Given the description of an element on the screen output the (x, y) to click on. 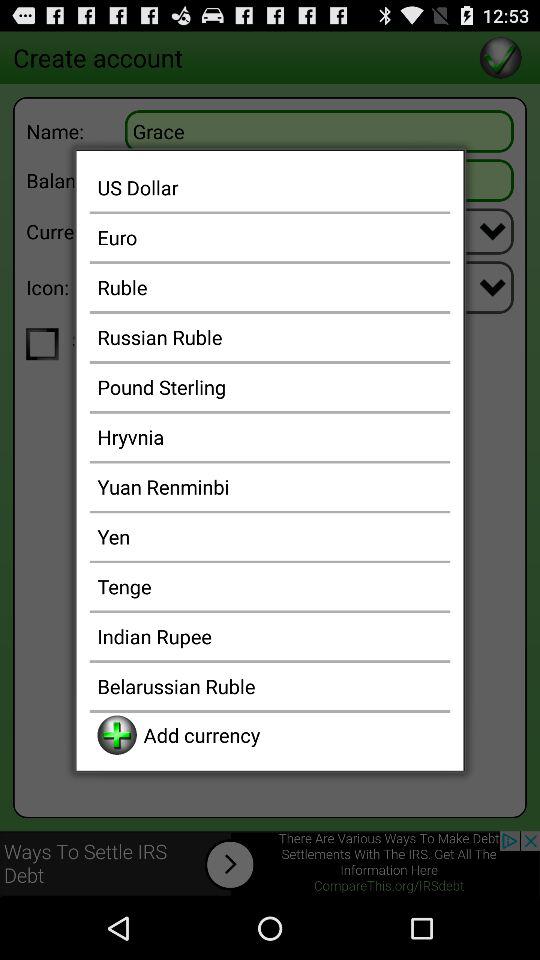
select the add currency item (292, 734)
